Given the description of an element on the screen output the (x, y) to click on. 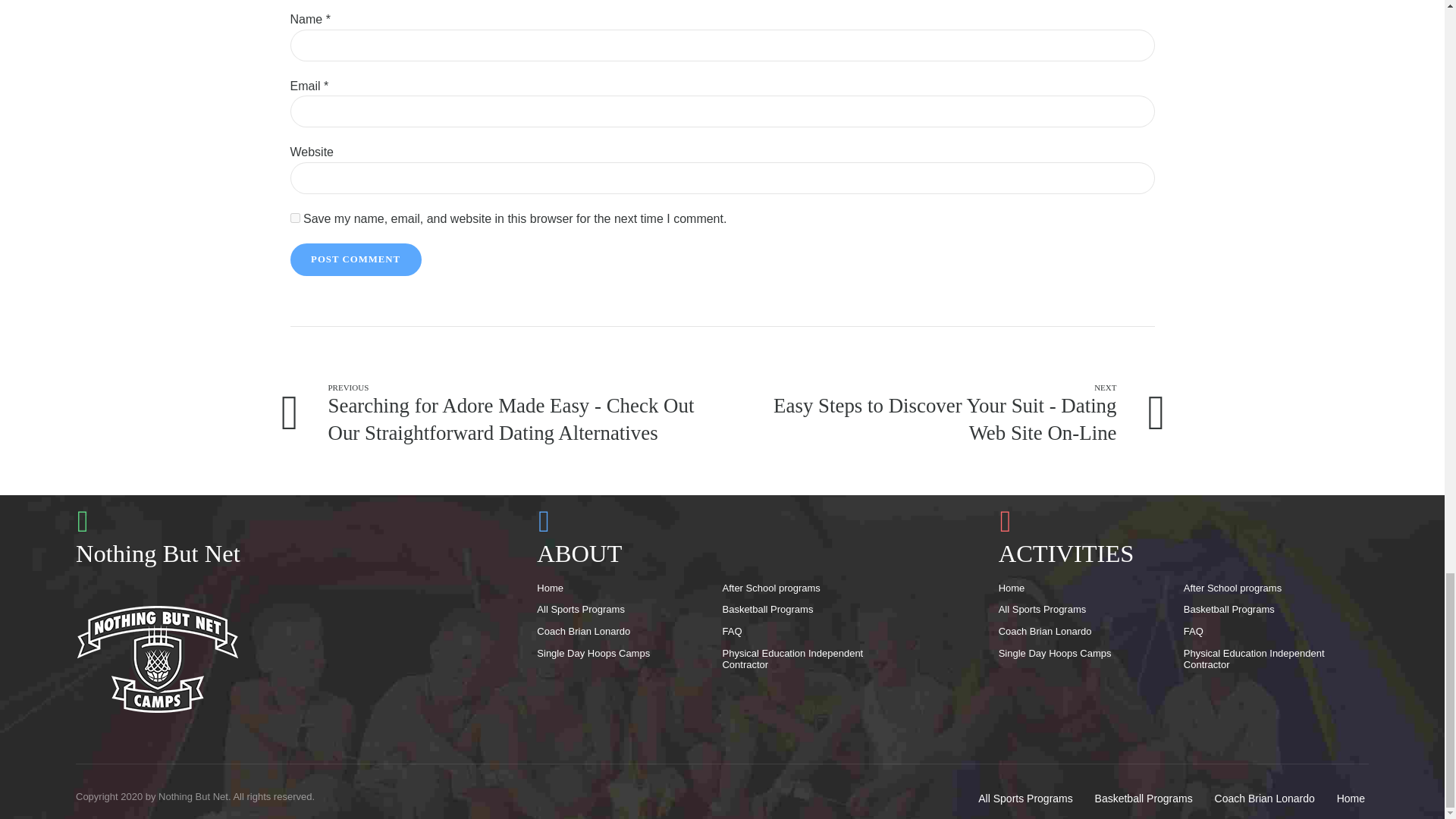
Home (552, 587)
FAQ (733, 631)
yes (294, 217)
Single Day Hoops Camps (595, 653)
After School programs (773, 587)
Coach Brian Lonardo (1047, 631)
Basketball Programs (1230, 609)
After School programs (1234, 587)
